Given the description of an element on the screen output the (x, y) to click on. 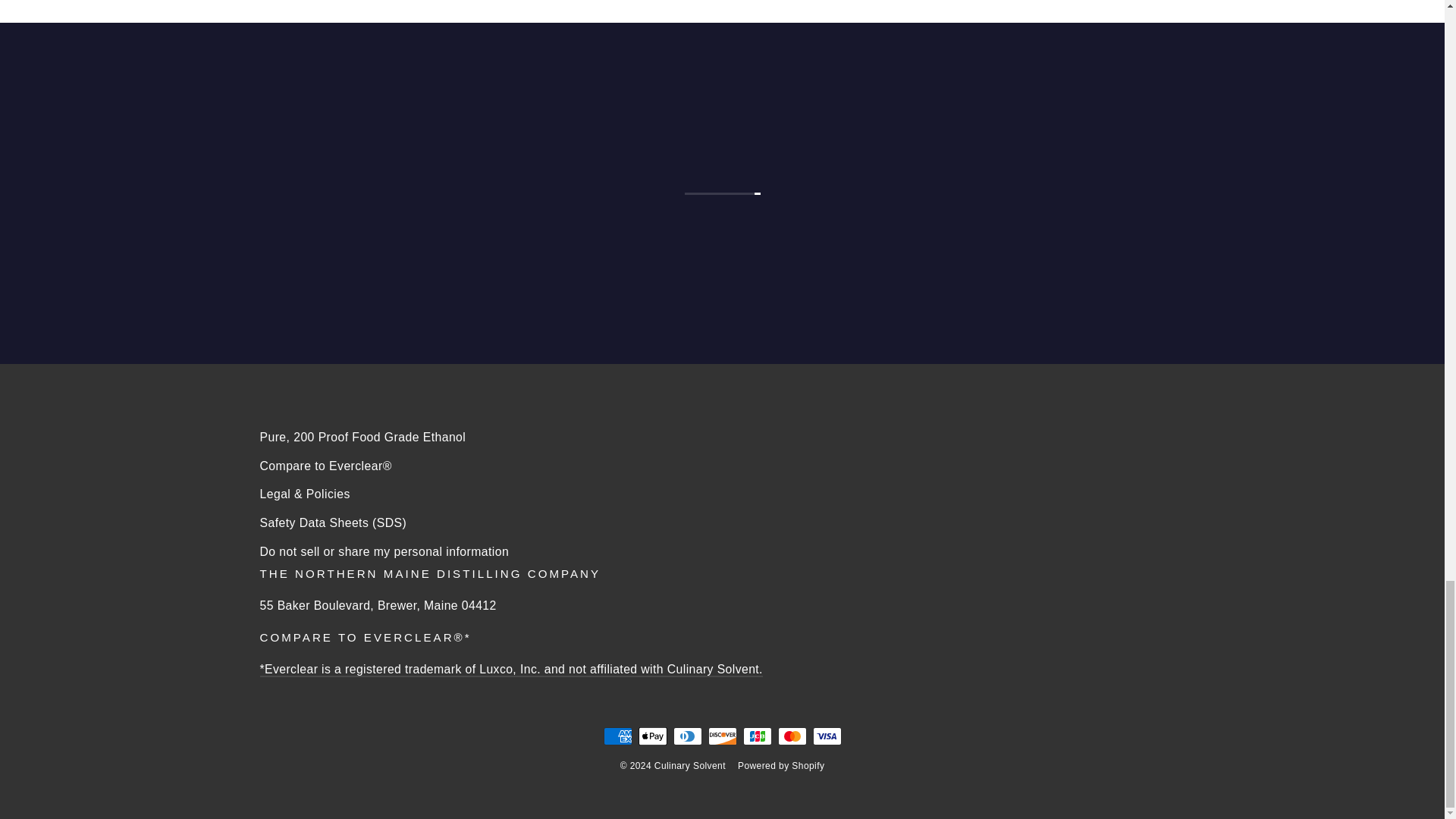
Apple Pay (652, 736)
American Express (617, 736)
JCB (756, 736)
Visa (826, 736)
Diners Club (686, 736)
Mastercard (791, 736)
Discover (721, 736)
